Given the description of an element on the screen output the (x, y) to click on. 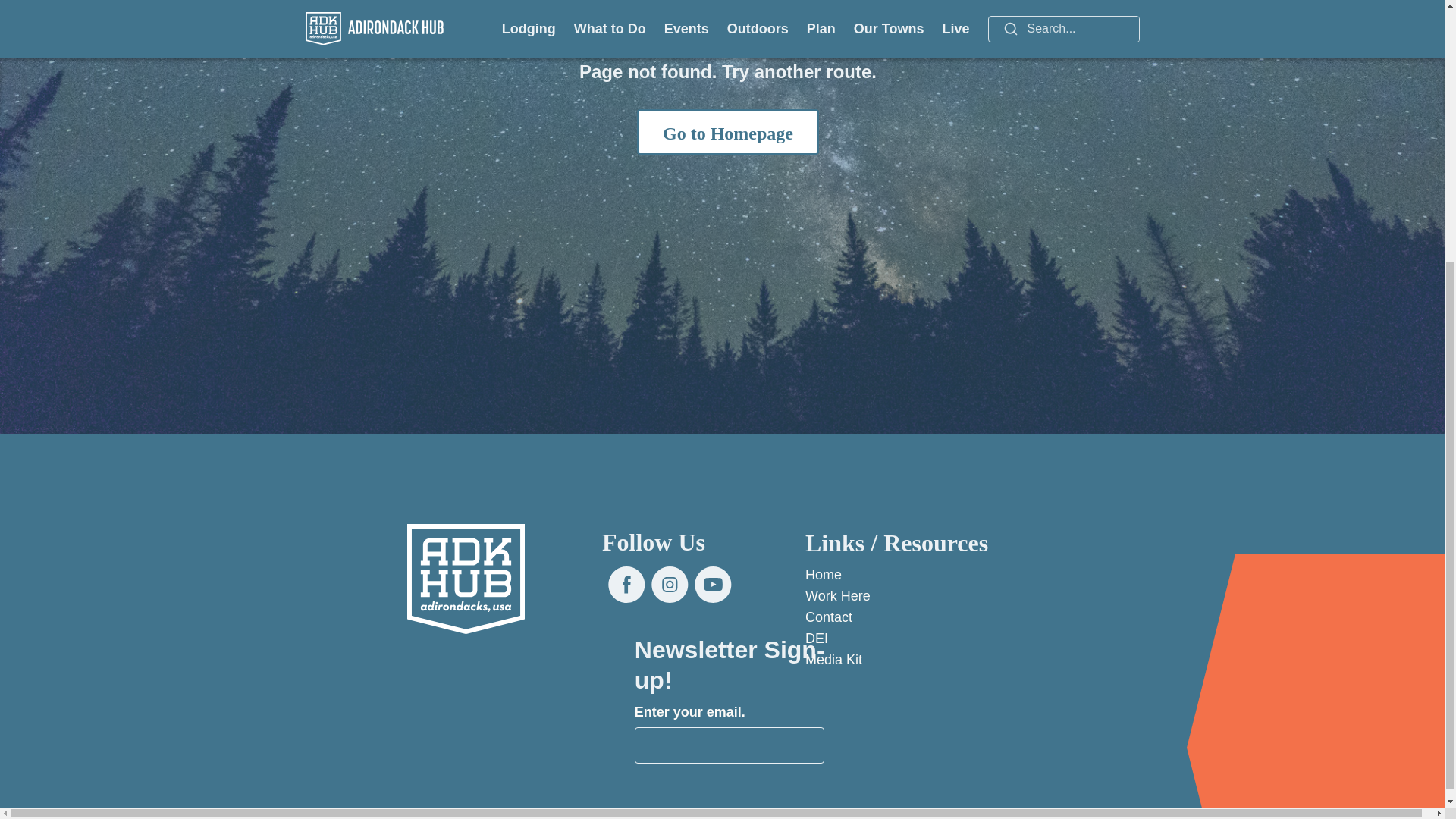
All Are Welcome Here (816, 638)
Newsletter Sign-up (729, 745)
Facebook (626, 584)
Home Page (823, 574)
Youtube (713, 584)
Contact Us (828, 616)
Media Resources (833, 659)
Home (465, 578)
Work ADK (837, 595)
Instagram (669, 584)
